Given the description of an element on the screen output the (x, y) to click on. 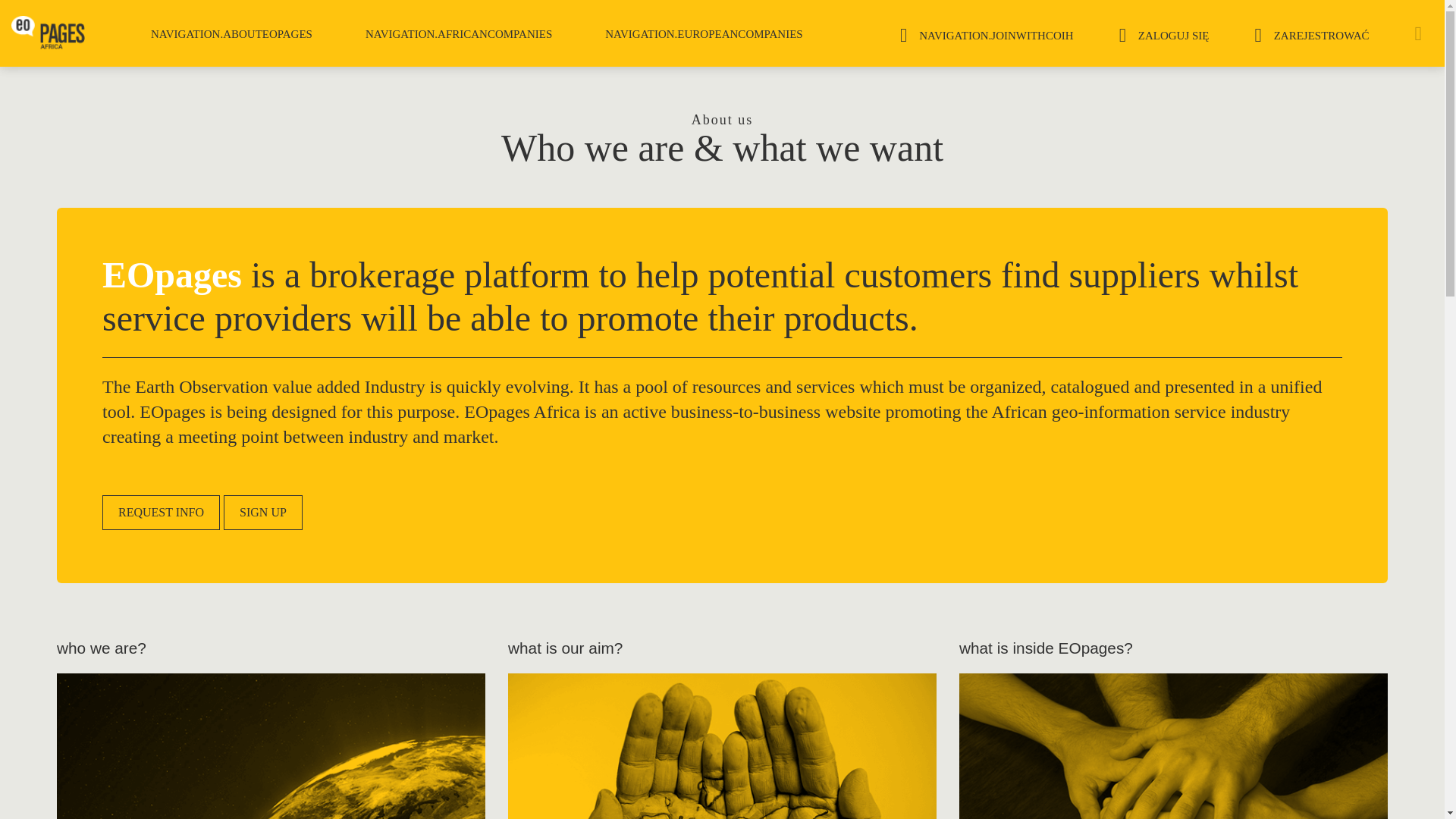
NAVIGATION.EUROPEANCOMPANIES (702, 34)
NAVIGATION.AFRICANCOMPANIES (458, 34)
NAVIGATION.ABOUTEOPAGES (231, 34)
REQUEST INFO (160, 512)
What is inside EOpages? (1173, 746)
What is our aim? (722, 746)
Sign up (263, 512)
Who we are? (270, 746)
SIGN UP (263, 512)
NAVIGATION.JOINWITHCOIH (986, 32)
Africa eoPages (47, 32)
